Given the description of an element on the screen output the (x, y) to click on. 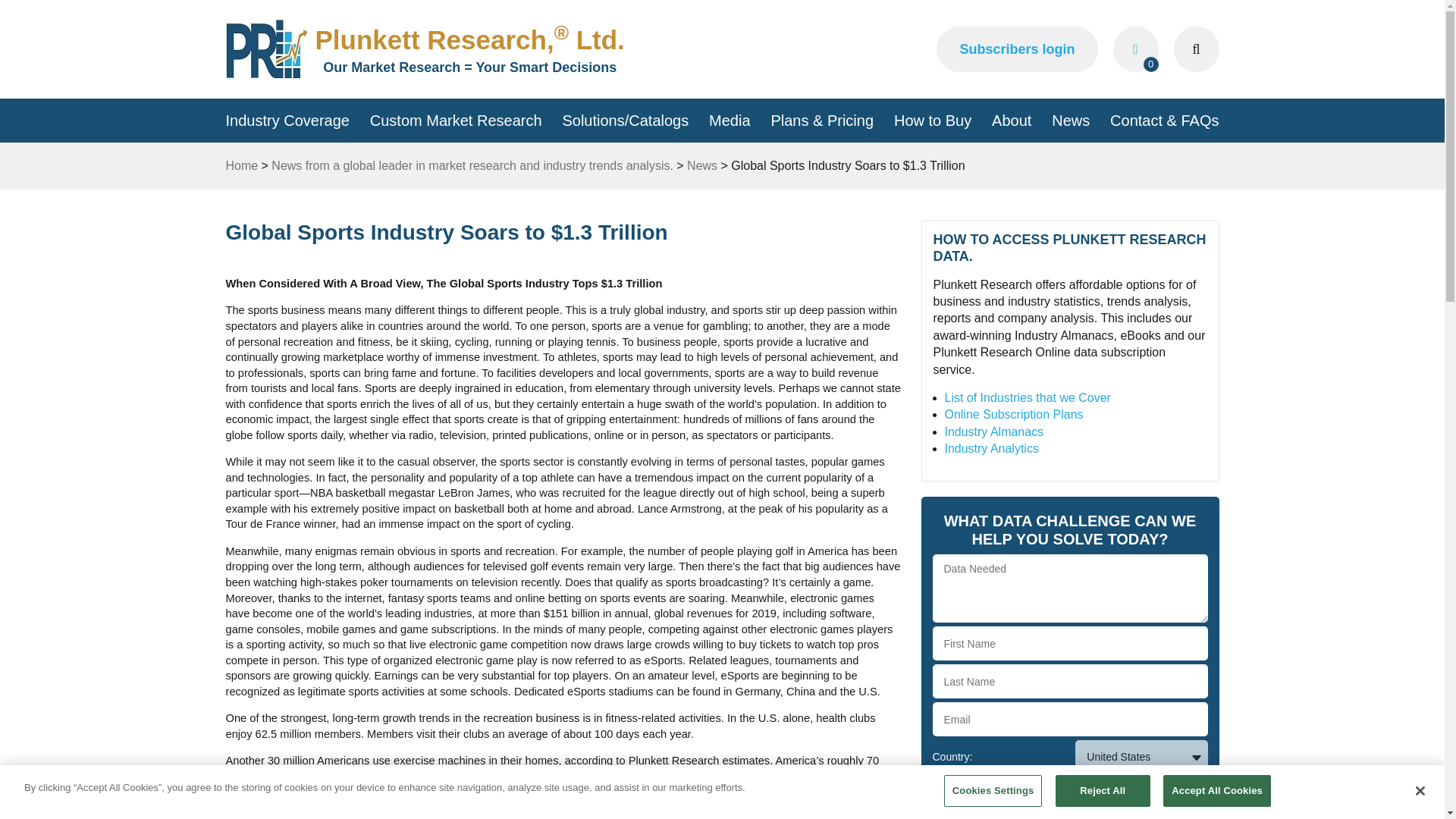
Home (242, 164)
News (702, 164)
Media (729, 120)
Subscribers login (1016, 49)
Industry Coverage (287, 120)
Online Subscription Plans (1013, 413)
Go to the News category archives. (702, 164)
Industry Analytics (991, 448)
List of Industries that we Cover (1027, 397)
About (1010, 120)
Industry Coverage (287, 120)
How to Buy (932, 120)
Industry Almanacs (993, 431)
0 (1135, 49)
